Given the description of an element on the screen output the (x, y) to click on. 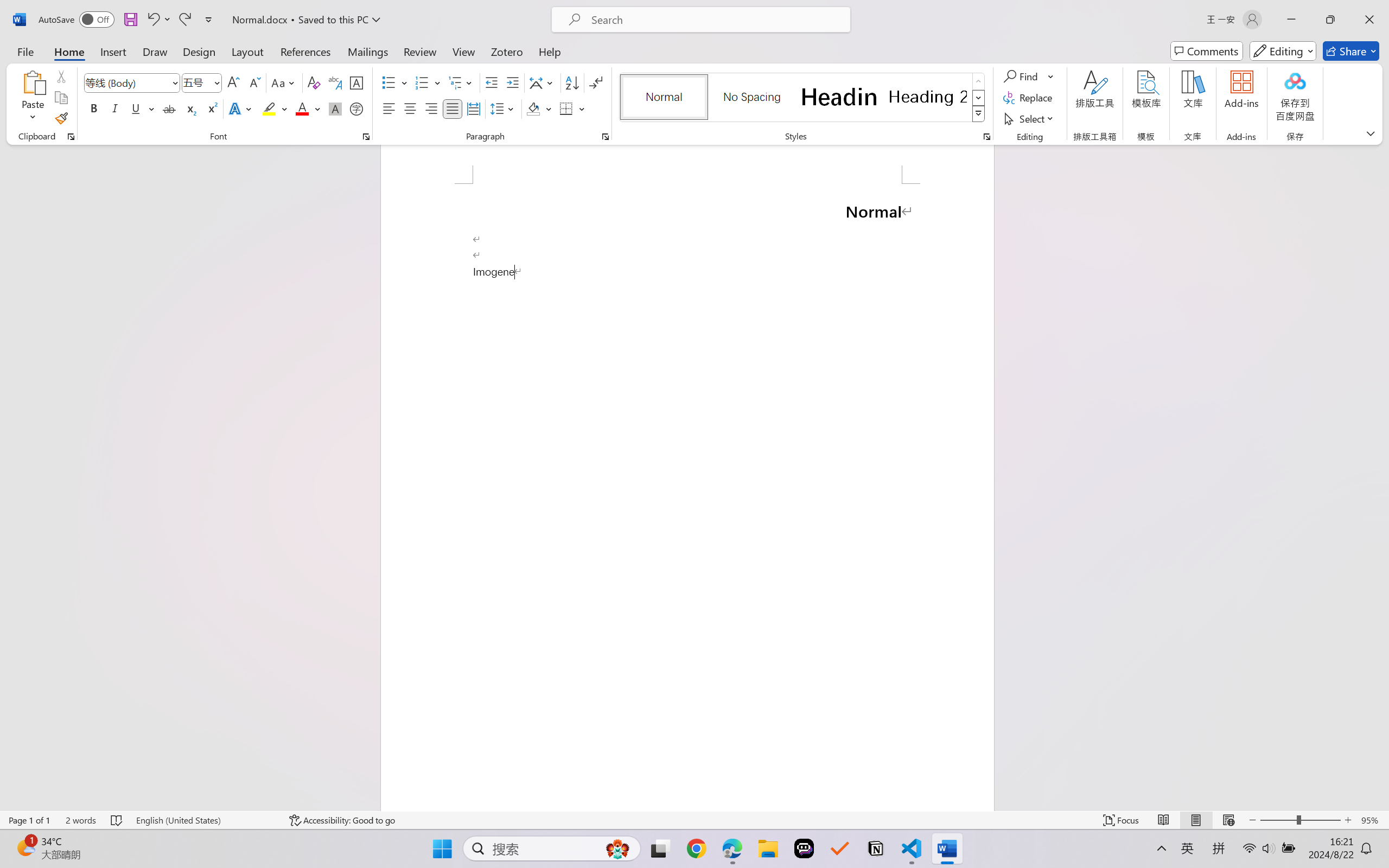
Zoom 95% (1372, 819)
Shading RGB(0, 0, 0) (533, 108)
Strikethrough (169, 108)
AutomationID: QuickStylesGallery (802, 97)
Italic (115, 108)
Line and Paragraph Spacing (503, 108)
Phonetic Guide... (334, 82)
Replace... (1029, 97)
